Given the description of an element on the screen output the (x, y) to click on. 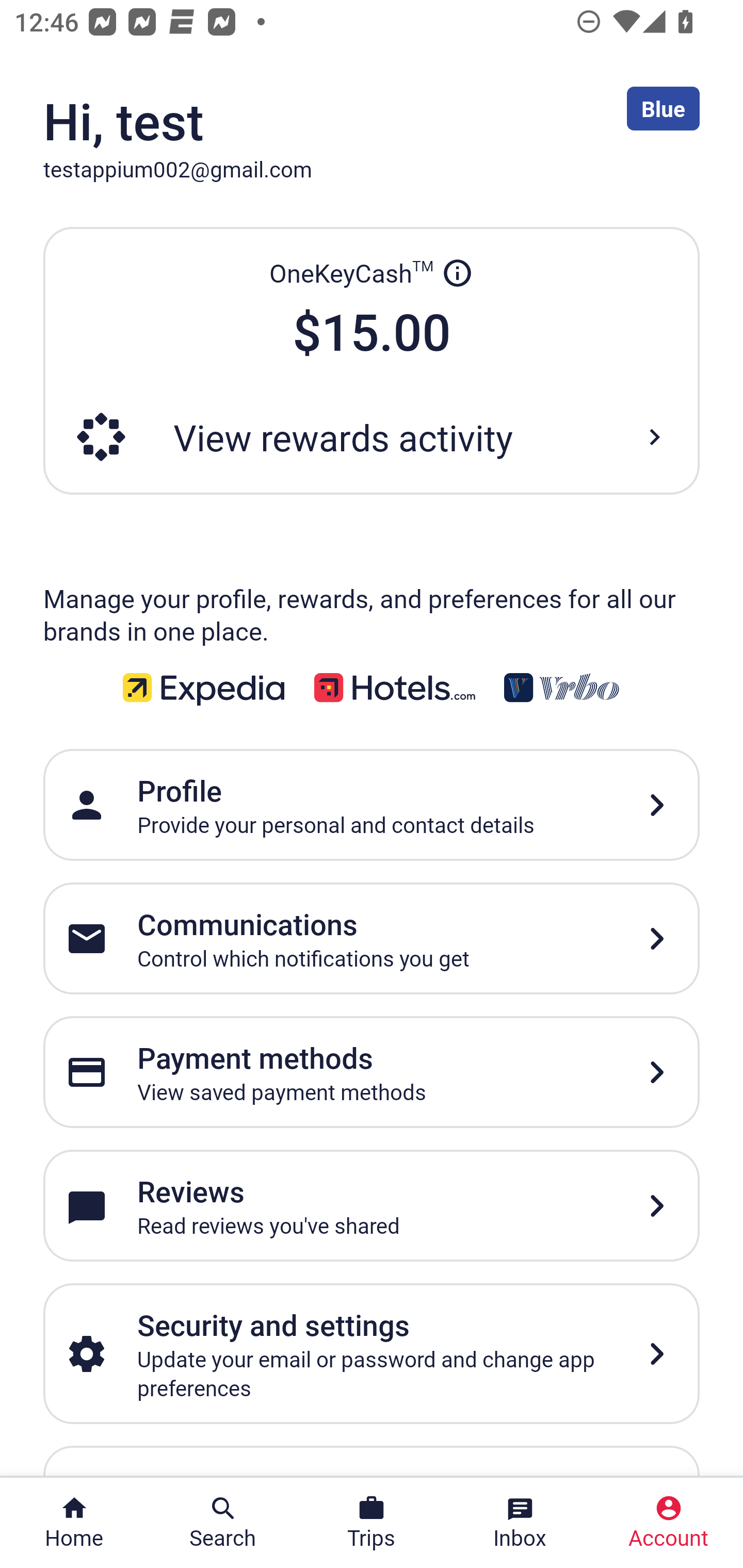
Profile Provide your personal and contact details (371, 804)
Communications Control which notifications you get (371, 938)
Payment methods View saved payment methods (371, 1071)
Reviews Read reviews you've shared (371, 1205)
Home Home Button (74, 1522)
Search Search Button (222, 1522)
Trips Trips Button (371, 1522)
Inbox Inbox Button (519, 1522)
